Given the description of an element on the screen output the (x, y) to click on. 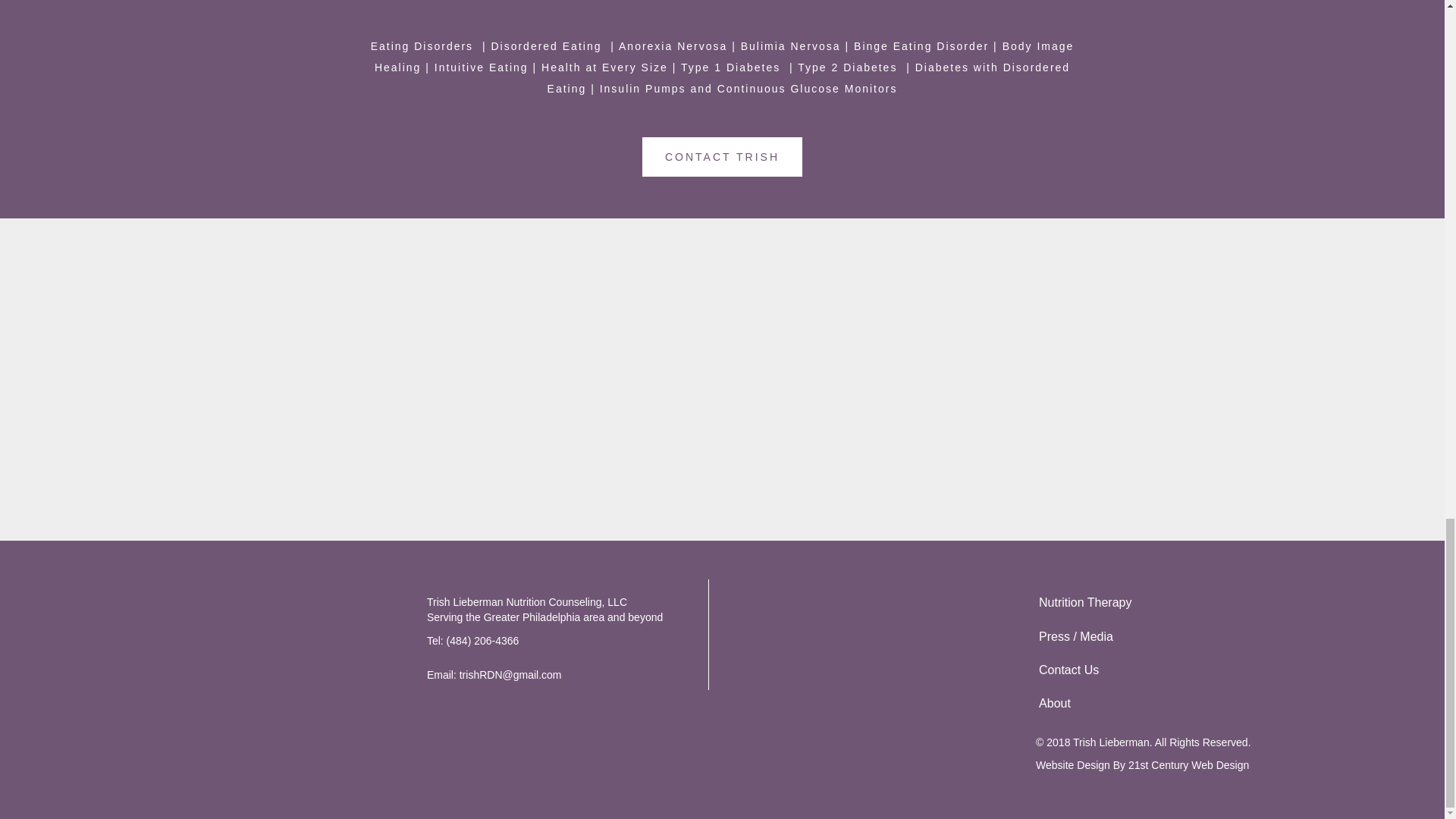
About (1220, 703)
Greater Philadelphia Area (205, 679)
CONTACT TRISH (722, 156)
21st Century Web Design (1188, 765)
Contact Us (1220, 669)
Nutrition Therapy (1220, 602)
